Given the description of an element on the screen output the (x, y) to click on. 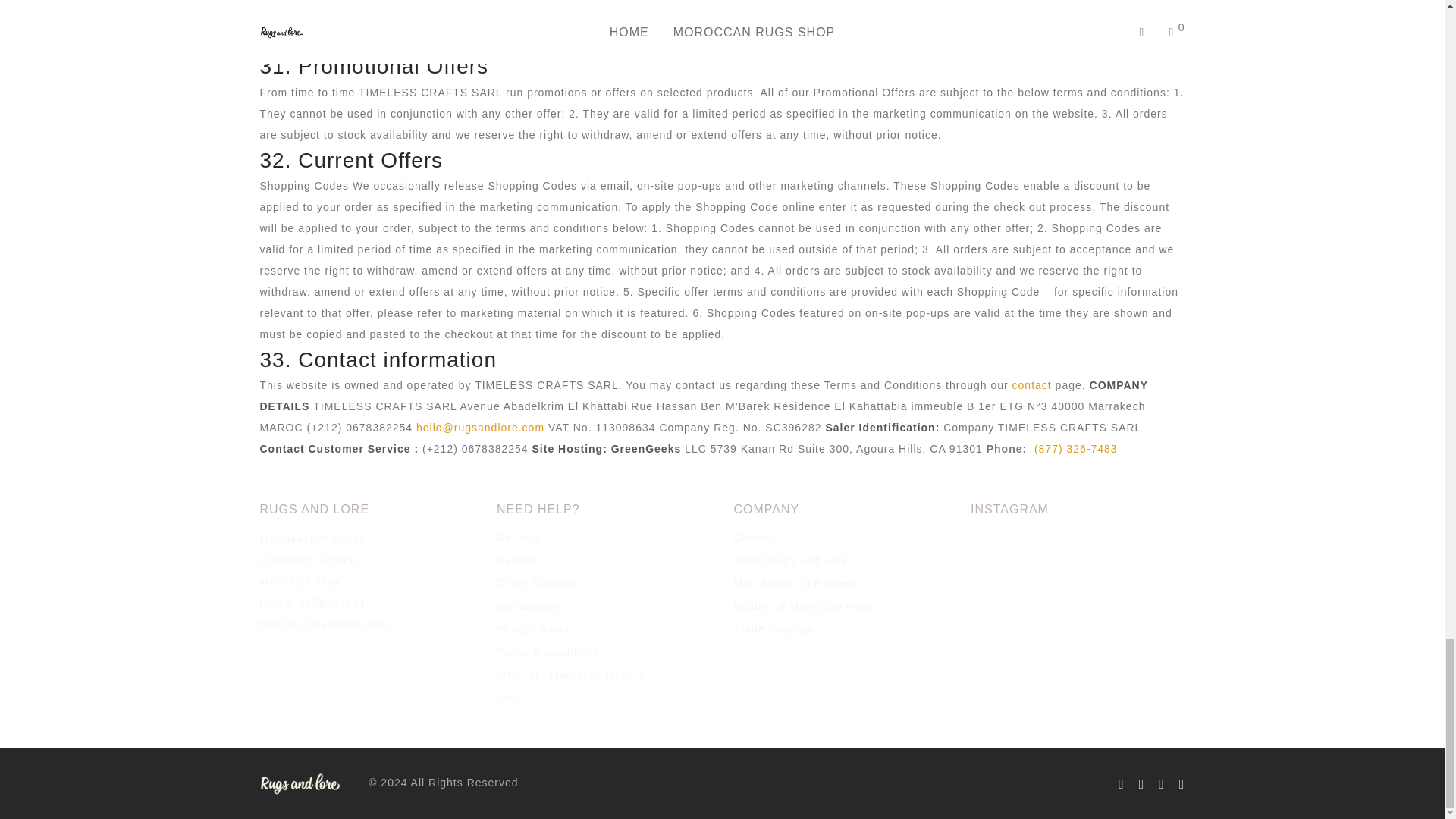
Contact (754, 536)
contact (1031, 385)
Delivery (518, 536)
What Are Moroccan Rugs ? (570, 675)
Manufacturing Process (796, 582)
Order Tracking (537, 582)
Trade Program (774, 629)
 Call GreenGeeks (1075, 449)
Privacy policy (534, 629)
Blog (508, 698)
cookie policy (675, 19)
Returns (517, 560)
About Rugs and Lore (790, 560)
My account (527, 605)
History of Moroccan Rugs (804, 605)
